Given the description of an element on the screen output the (x, y) to click on. 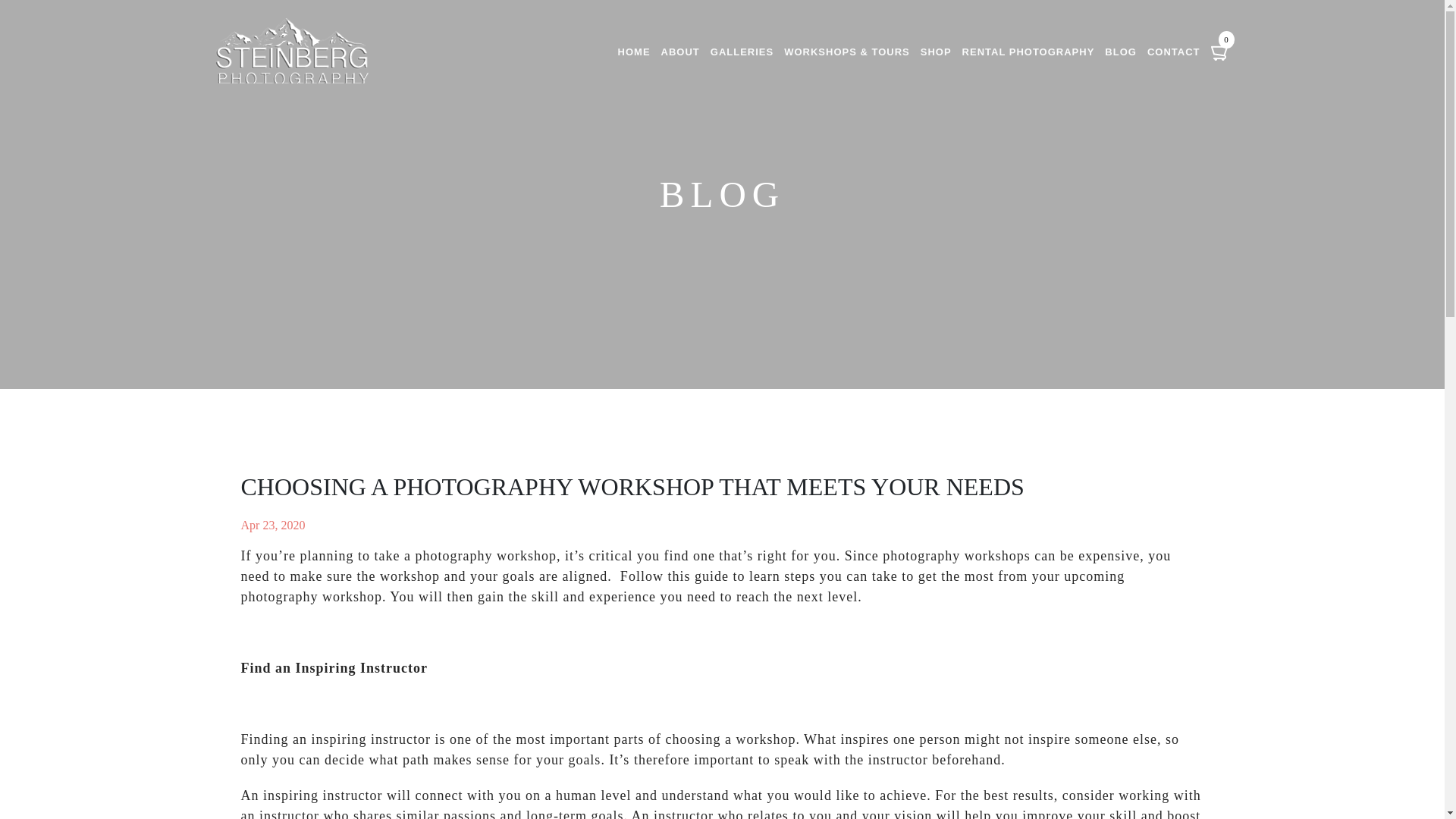
ABOUT (680, 51)
SHOP (936, 51)
BLOG (1121, 51)
GALLERIES (741, 51)
CONTACT (1173, 51)
HOME (633, 51)
0 (1219, 50)
RENTAL PHOTOGRAPHY (1028, 51)
